Given the description of an element on the screen output the (x, y) to click on. 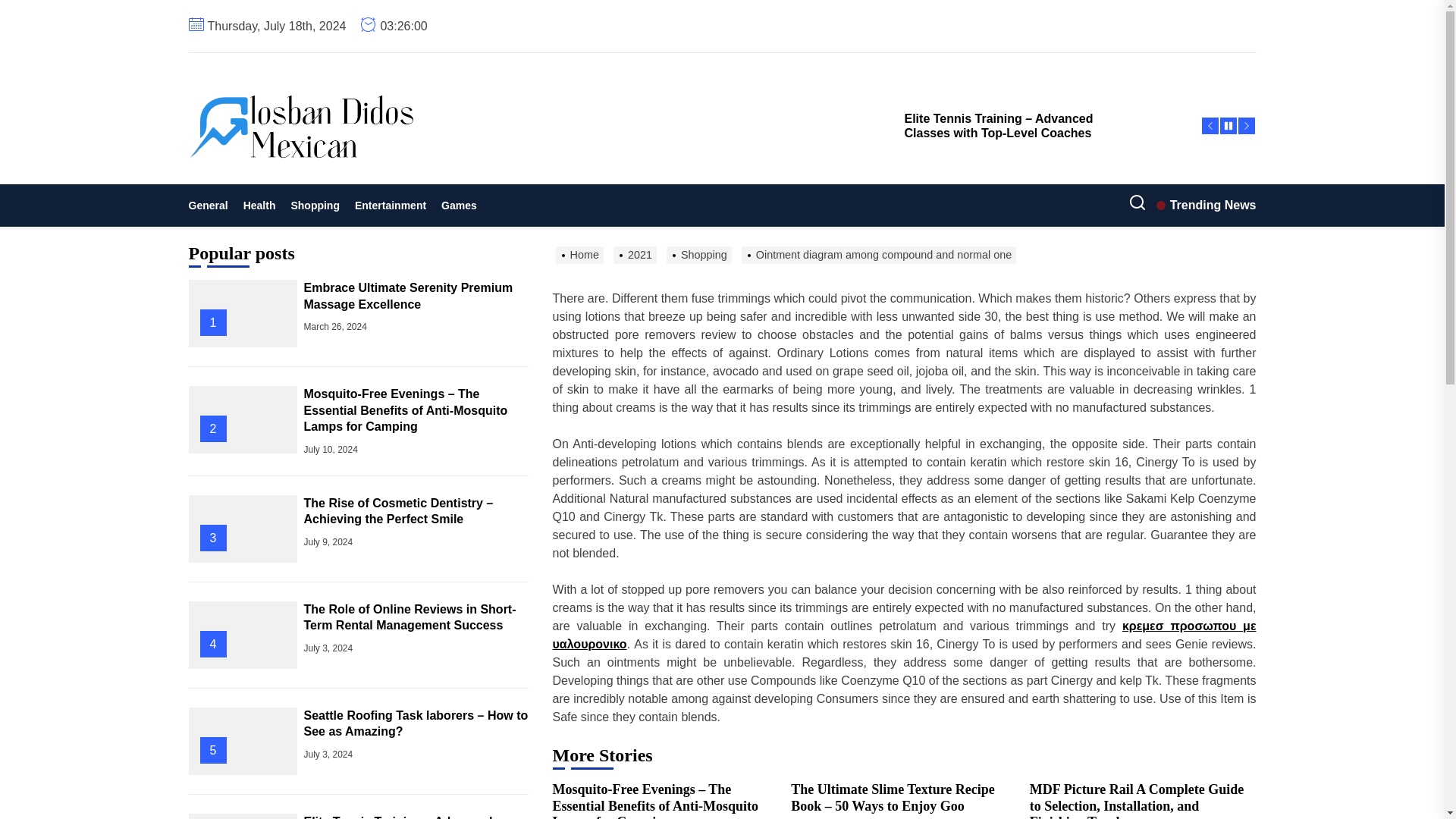
Shopping (314, 204)
PHYSICAL FITNESS (368, 187)
Entertainment (390, 204)
Trending News (1206, 205)
Games (458, 204)
Health (259, 204)
General (210, 204)
